Given the description of an element on the screen output the (x, y) to click on. 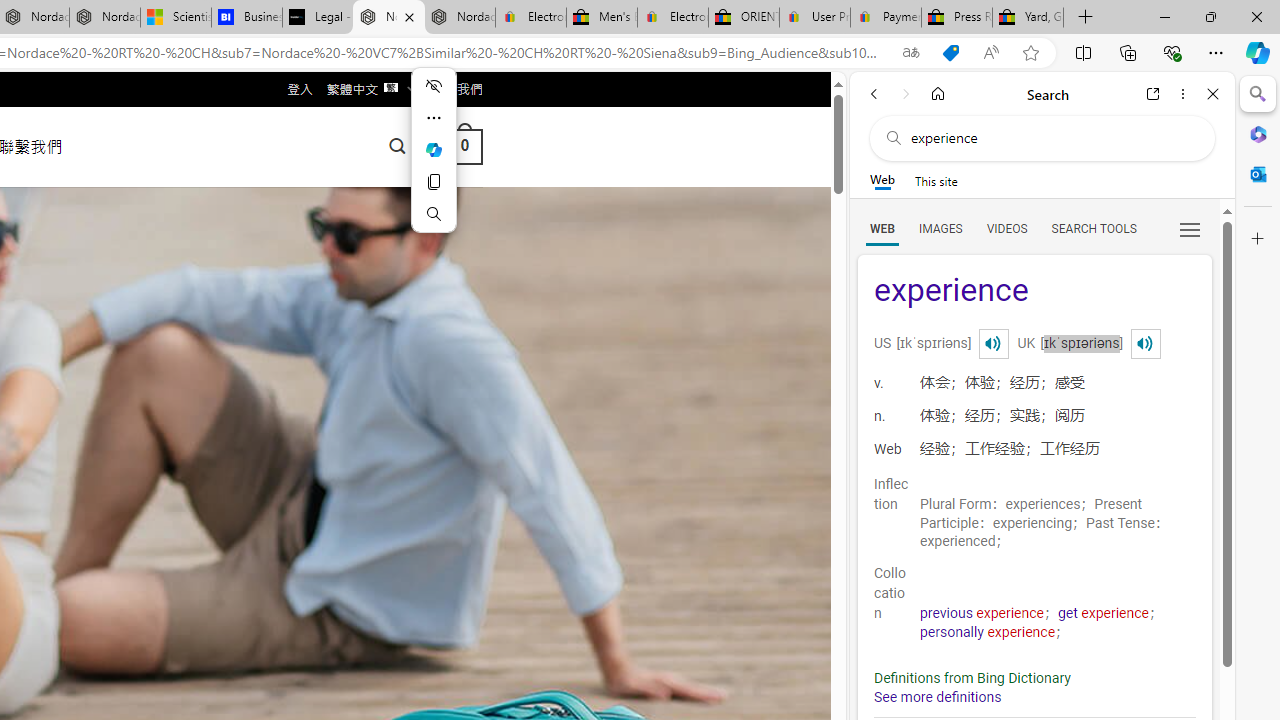
Hide menu (433, 85)
